Given the description of an element on the screen output the (x, y) to click on. 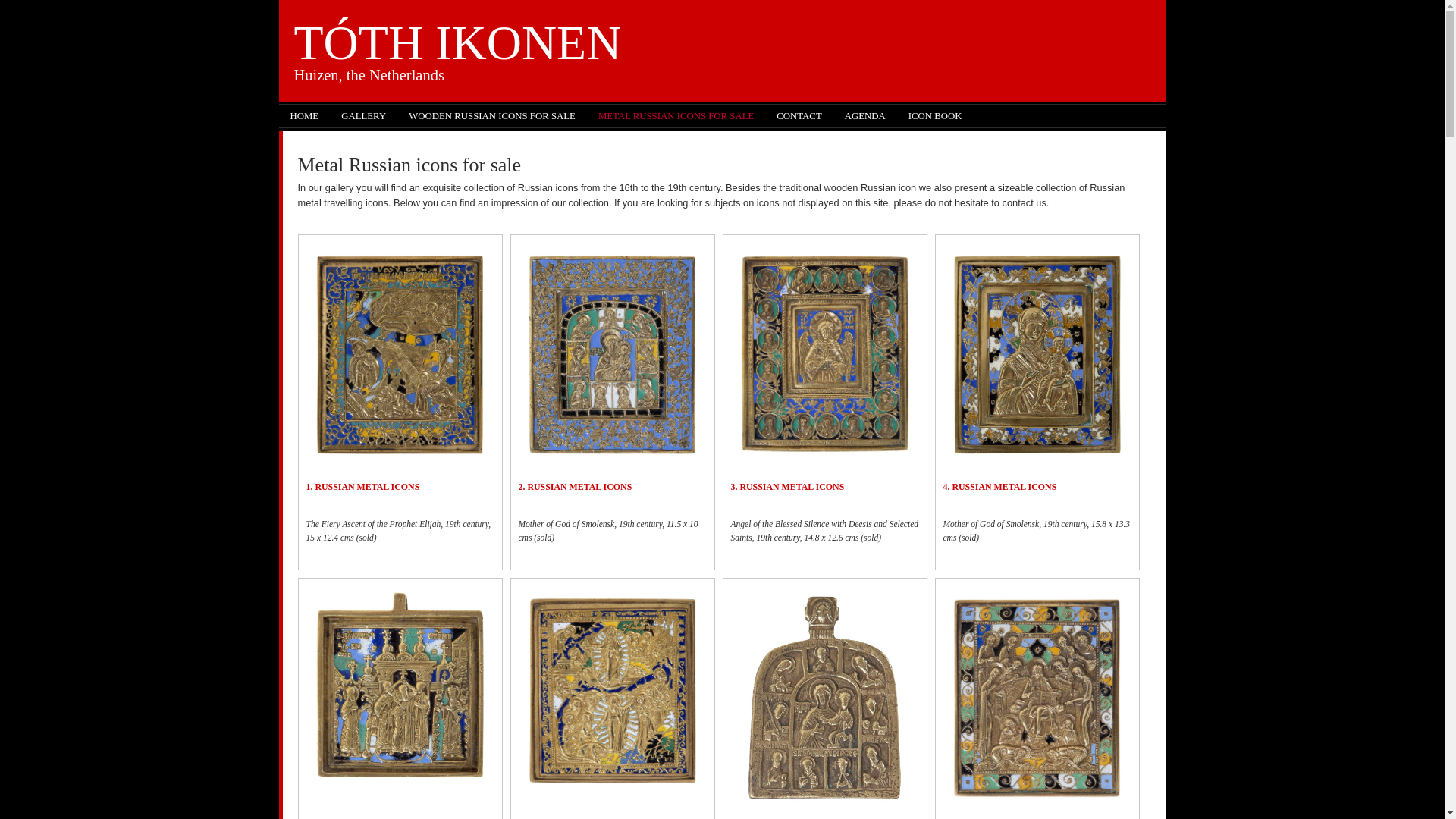
WOODEN RUSSIAN ICONS FOR SALE (491, 115)
AGENDA (864, 115)
CONTACT (798, 115)
GALLERY (363, 115)
ICON BOOK (935, 115)
HOME (304, 115)
METAL RUSSIAN ICONS FOR SALE (675, 115)
2. RUSSIAN METAL ICONS (574, 486)
4. RUSSIAN METAL ICONS (1000, 486)
6. Russian Metal Icons (611, 690)
1. RUSSIAN METAL ICONS (362, 486)
3. RUSSIAN METAL ICONS (787, 486)
5. Russian Metal Icons (400, 687)
